Given the description of an element on the screen output the (x, y) to click on. 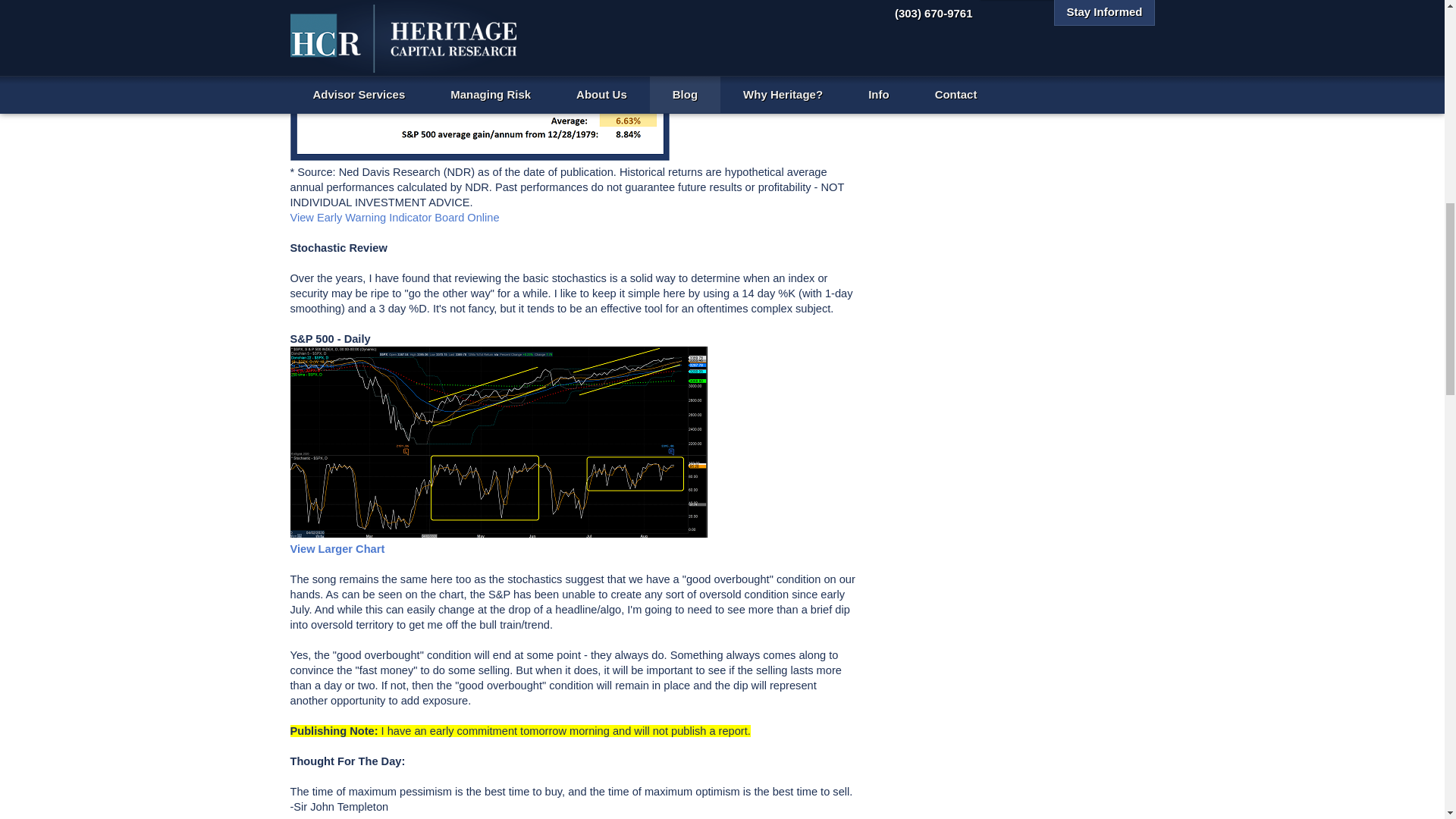
View Larger Chart (336, 548)
View Early Warning Indicator Board Online (394, 217)
Daily State of the Markets (973, 5)
